Given the description of an element on the screen output the (x, y) to click on. 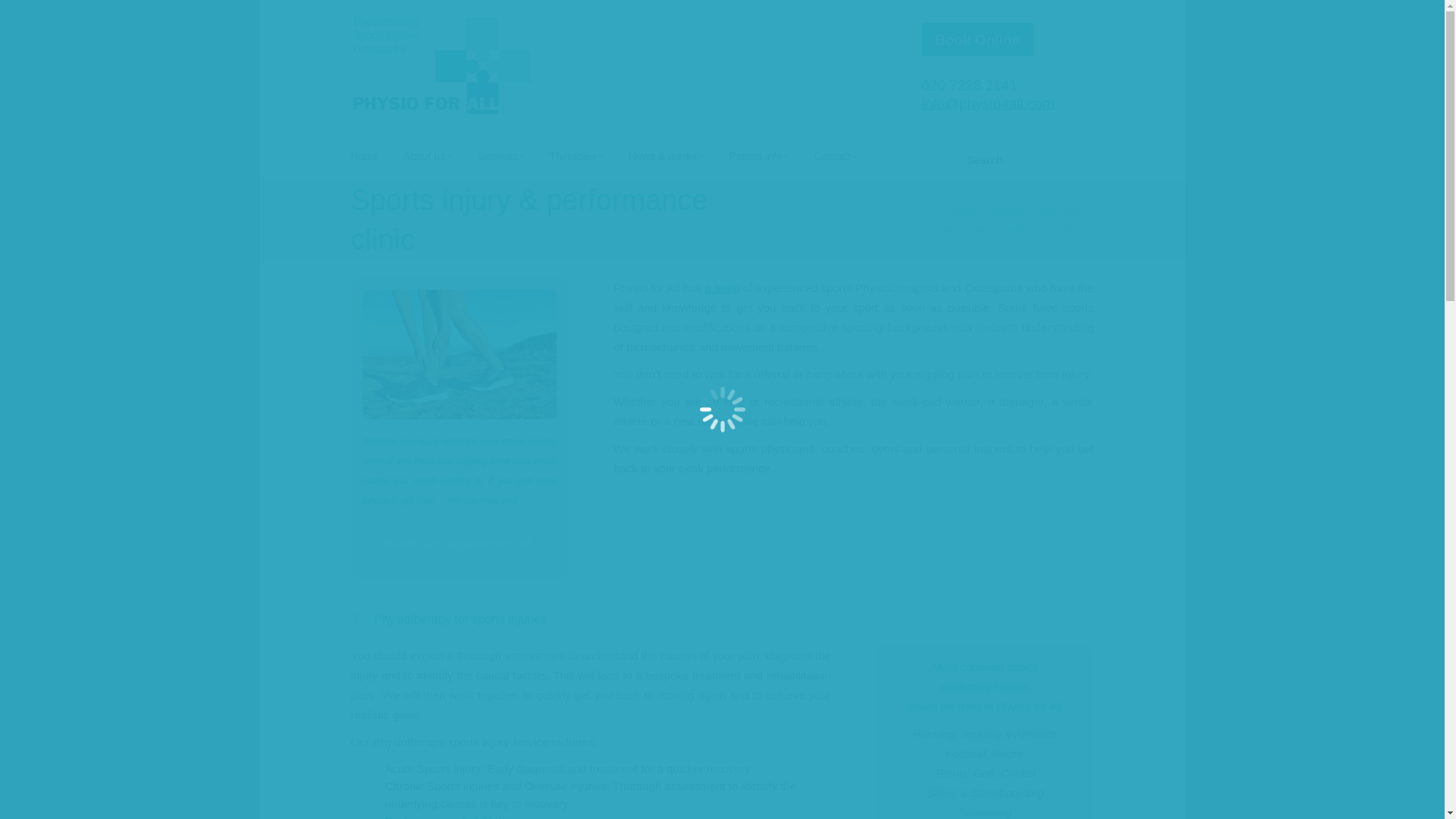
Therapies (589, 157)
Home (963, 211)
Services: what we do (1037, 211)
Patient info (771, 157)
Home (376, 157)
Book Online (977, 39)
Contact (847, 157)
Services (513, 157)
Sport injury clinic (459, 354)
About us (440, 157)
